Given the description of an element on the screen output the (x, y) to click on. 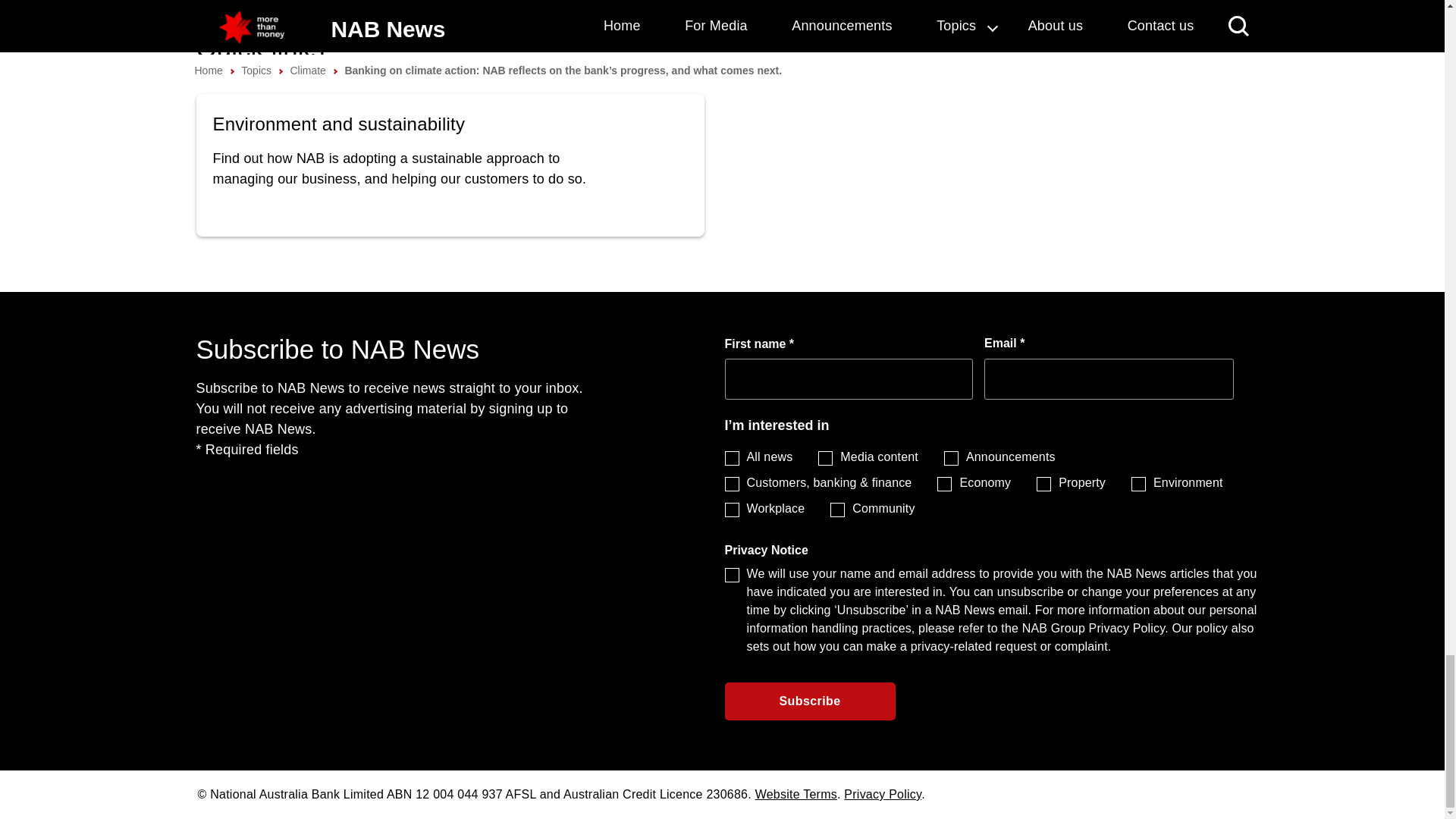
Subscribe (810, 701)
Find Our More (449, 165)
